Given the description of an element on the screen output the (x, y) to click on. 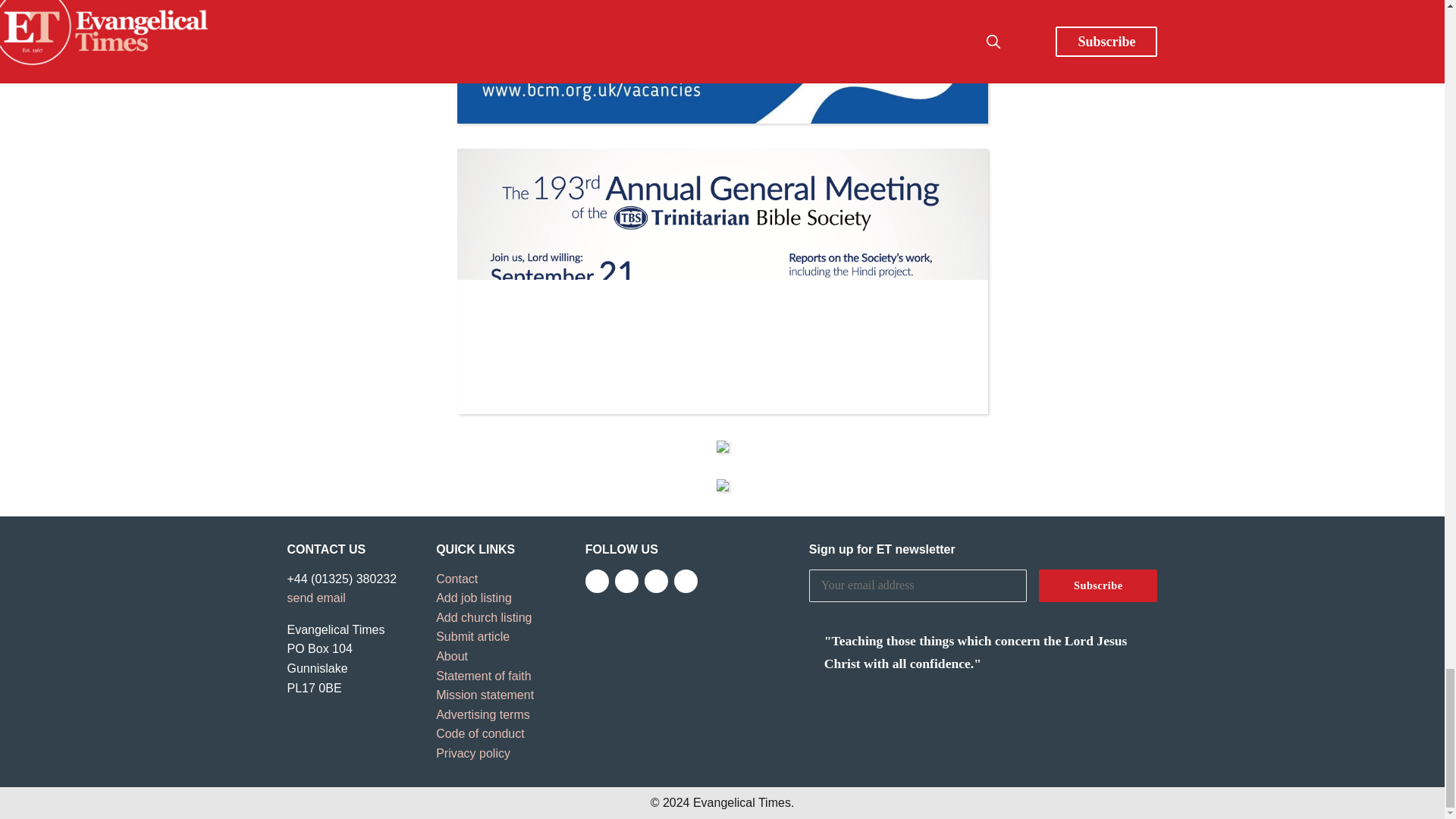
Facebook (596, 580)
Twitter (626, 580)
Linkedin (685, 580)
Instagram (656, 580)
